Given the description of an element on the screen output the (x, y) to click on. 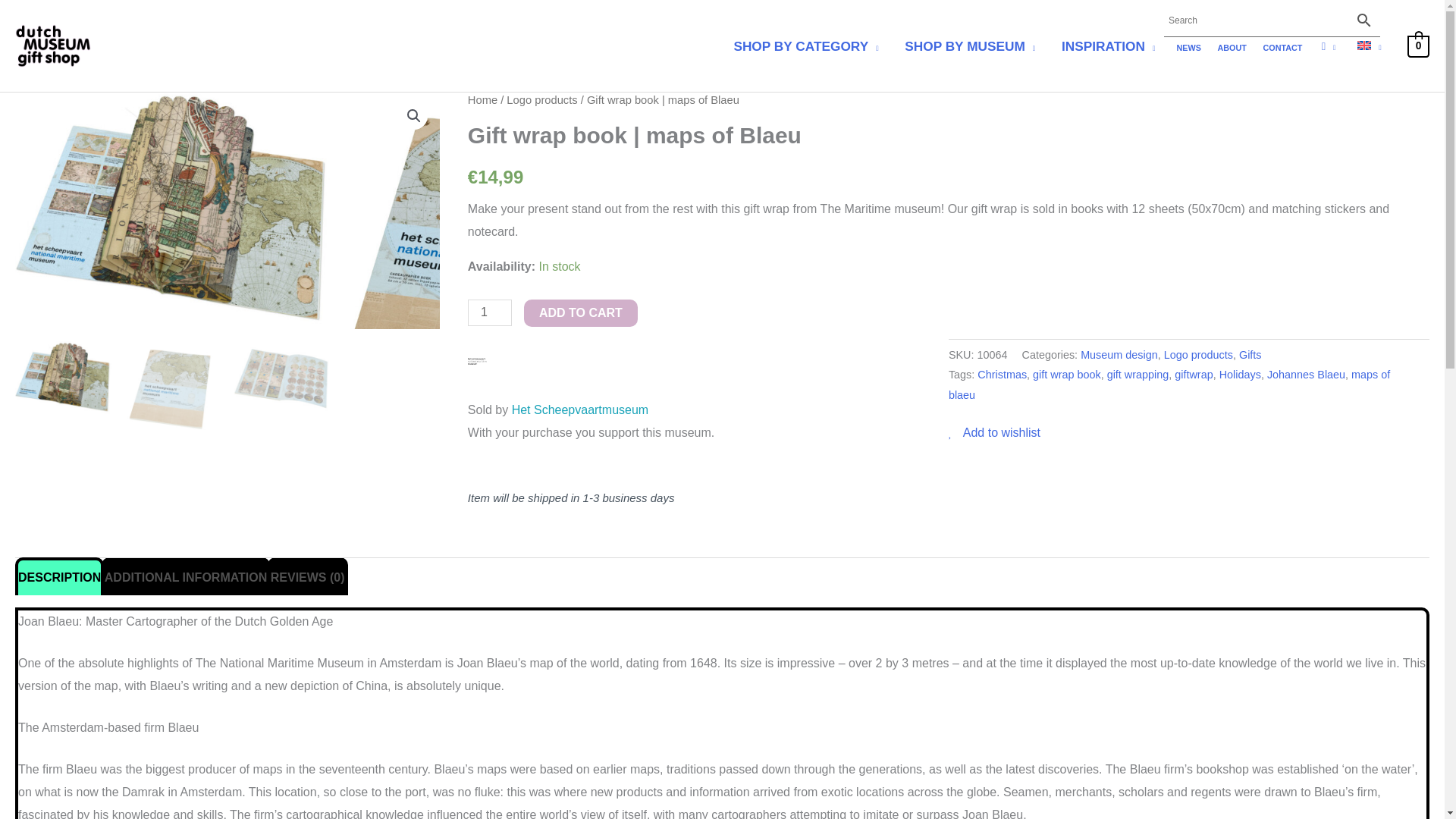
p-28527-GWB598 (492, 249)
p-28526-GWB598 (173, 209)
1 (489, 312)
SHOP BY CATEGORY (805, 45)
SHOP BY MUSEUM (969, 45)
